Given the description of an element on the screen output the (x, y) to click on. 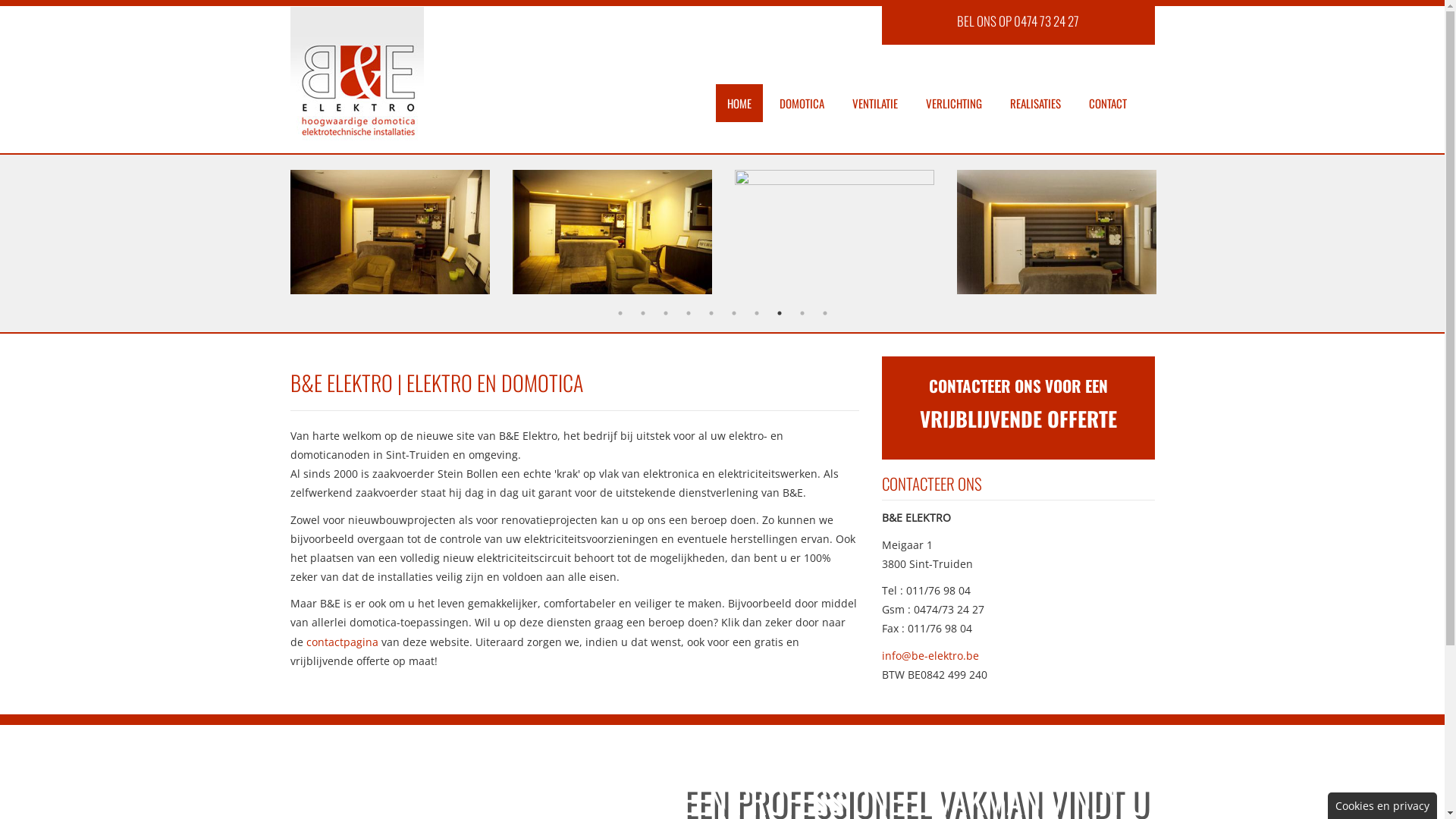
10 Element type: text (824, 312)
CONTACTEER ONS VOOR EEN
VRIJBLIJVENDE OFFERTE Element type: text (1017, 403)
VERLICHTING Element type: text (953, 103)
contactpagina Element type: text (342, 641)
7 Element type: text (756, 312)
9 Element type: text (801, 312)
HOME Element type: text (738, 103)
1 Element type: text (619, 312)
VENTILATIE Element type: text (874, 103)
BEL ONS OP 0474 73 24 27 Element type: text (1018, 20)
CONTACT Element type: text (1106, 103)
8 Element type: text (779, 312)
6 Element type: text (733, 312)
2 Element type: text (642, 312)
4 Element type: text (688, 312)
3 Element type: text (665, 312)
5 Element type: text (710, 312)
REALISATIES Element type: text (1034, 103)
info@be-elektro.be Element type: text (929, 655)
DOMOTICA Element type: text (800, 103)
Overslaan en naar de algemene inhoud gaan Element type: text (115, 0)
